Given the description of an element on the screen output the (x, y) to click on. 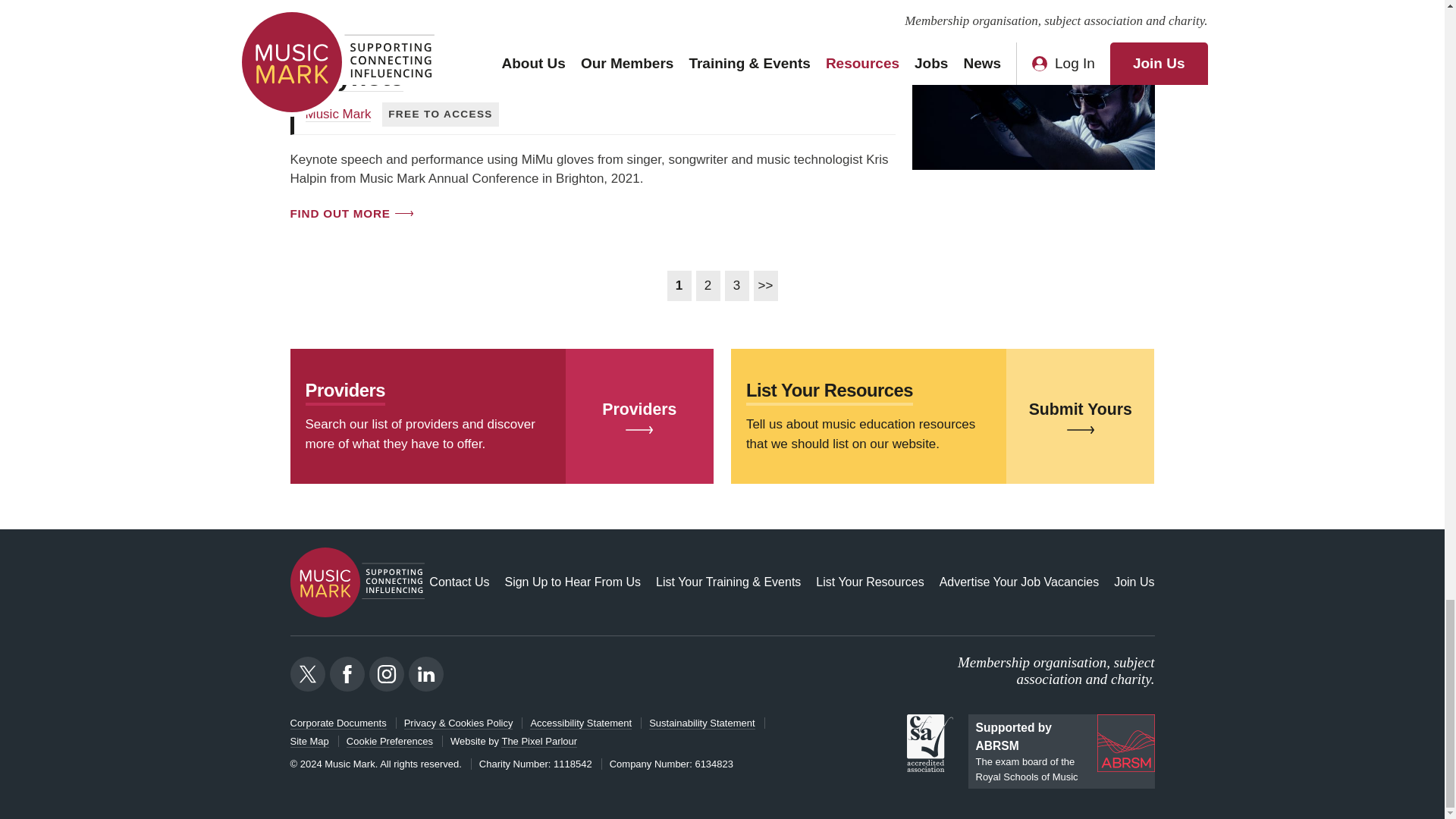
Twitter (306, 673)
Facebook (346, 673)
Website Design London (538, 741)
LinkedIn (424, 673)
Instagram (385, 673)
